Given the description of an element on the screen output the (x, y) to click on. 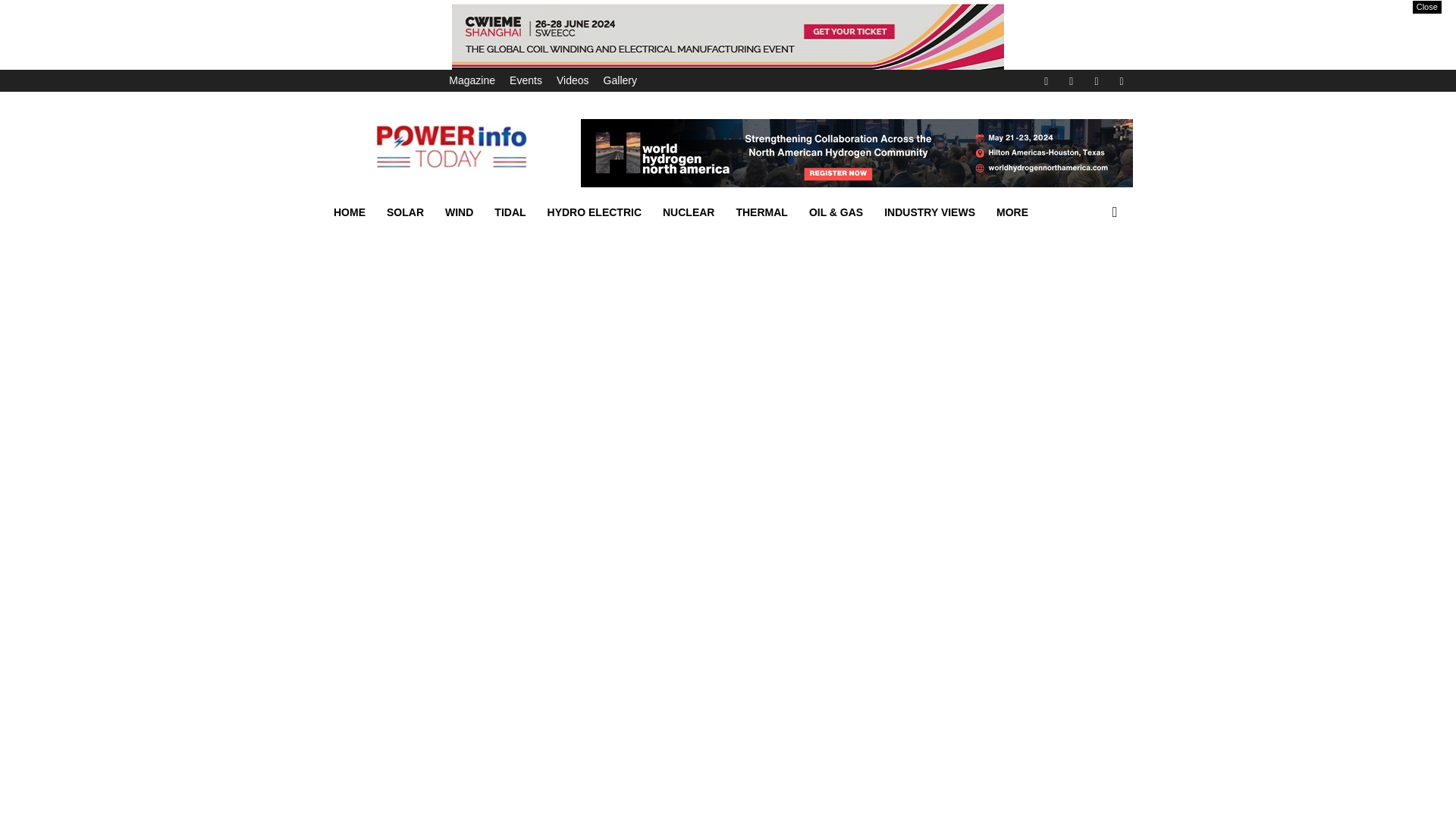
Twitter (1096, 79)
Magazine (471, 80)
Facebook (1046, 79)
Youtube (1120, 79)
Gallery (620, 80)
Linkedin (1071, 79)
Power Info Today (451, 146)
Events (525, 80)
Videos (572, 80)
